Given the description of an element on the screen output the (x, y) to click on. 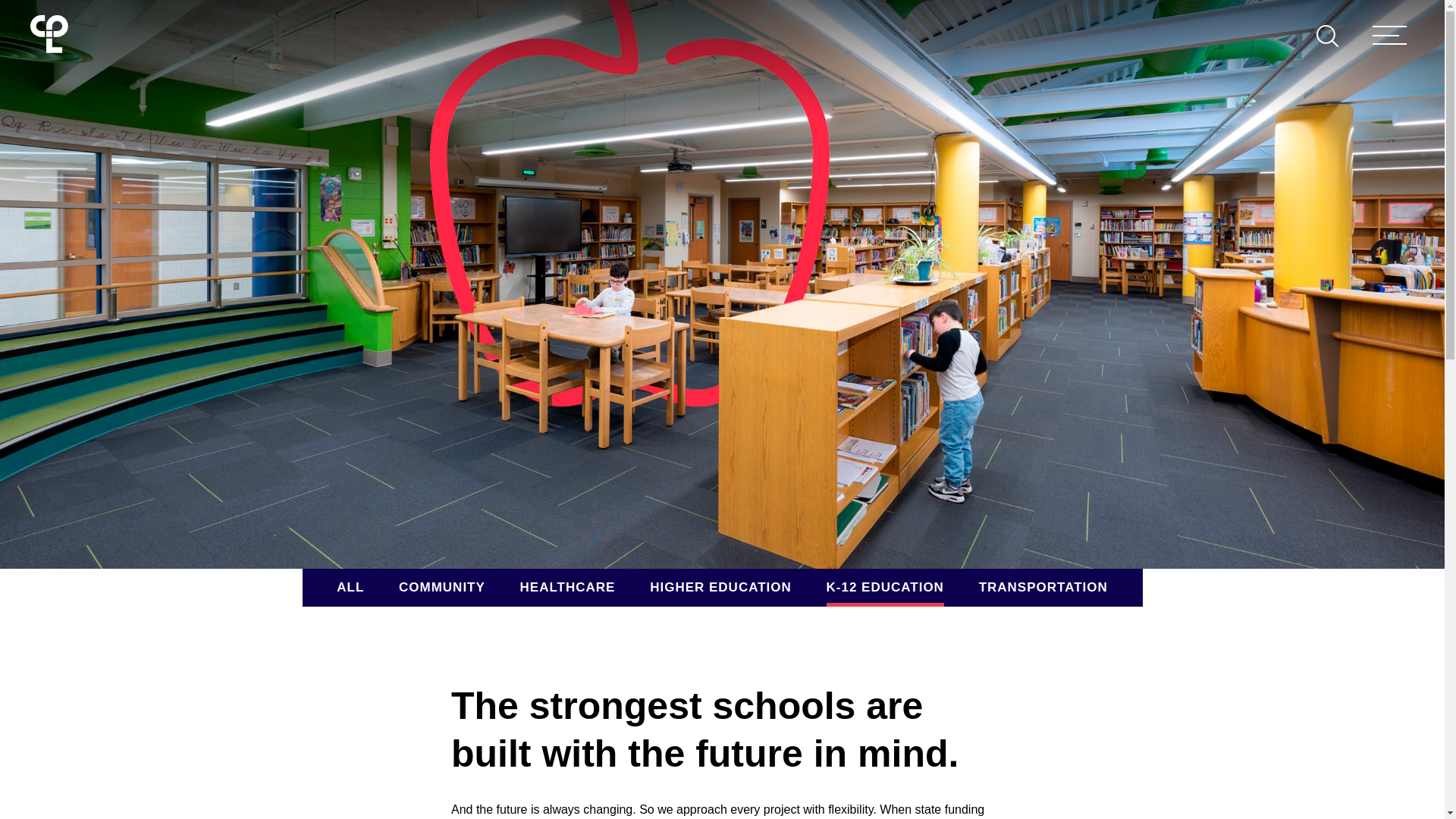
TRANSPORTATION (1043, 587)
HEALTHCARE (567, 587)
K-12 EDUCATION (885, 587)
HIGHER EDUCATION (720, 587)
COMMUNITY (441, 587)
